Given the description of an element on the screen output the (x, y) to click on. 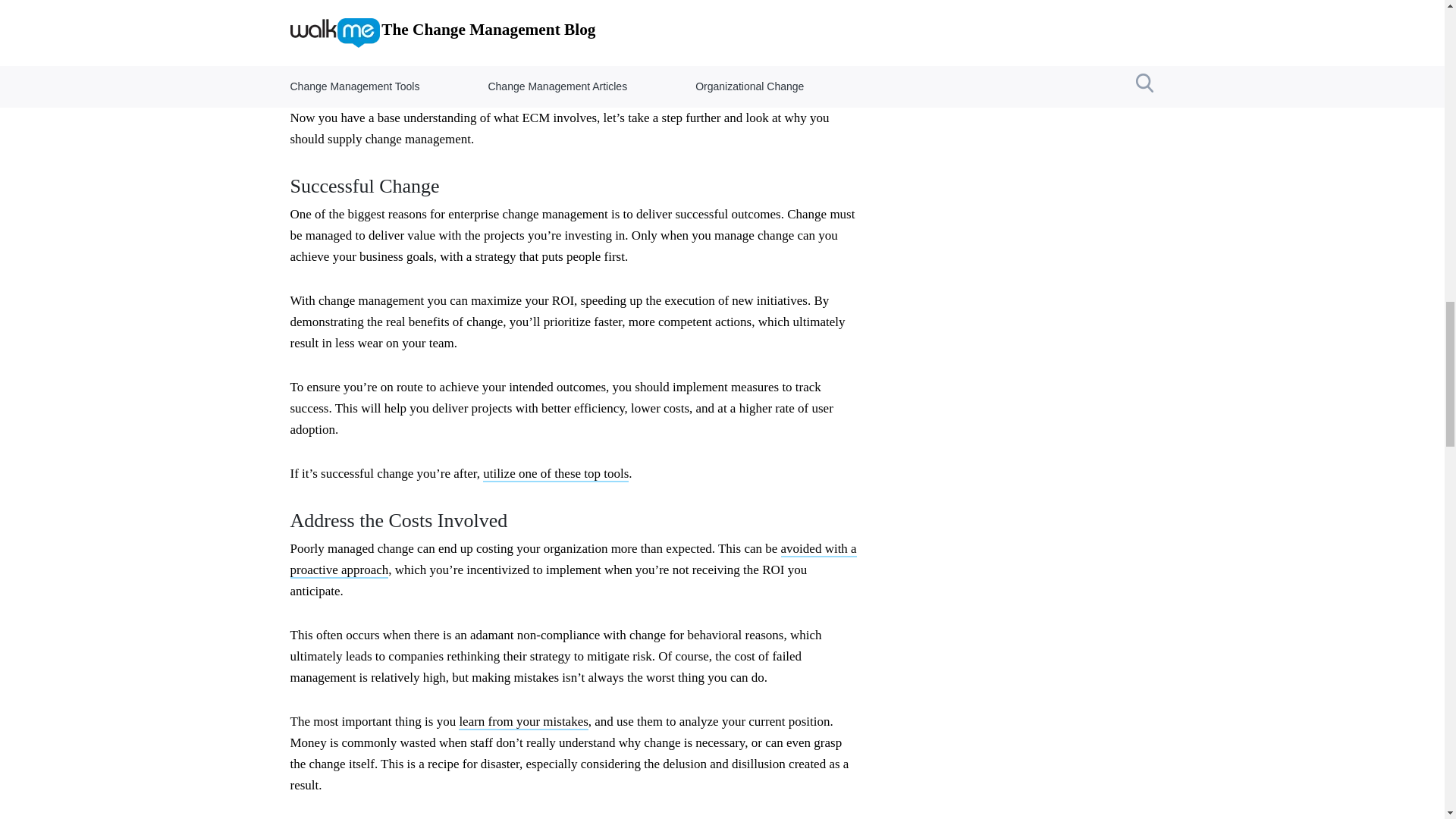
avoided with a proactive approach (572, 559)
learn from your mistakes (523, 722)
utilize one of these top tools (555, 474)
